Given the description of an element on the screen output the (x, y) to click on. 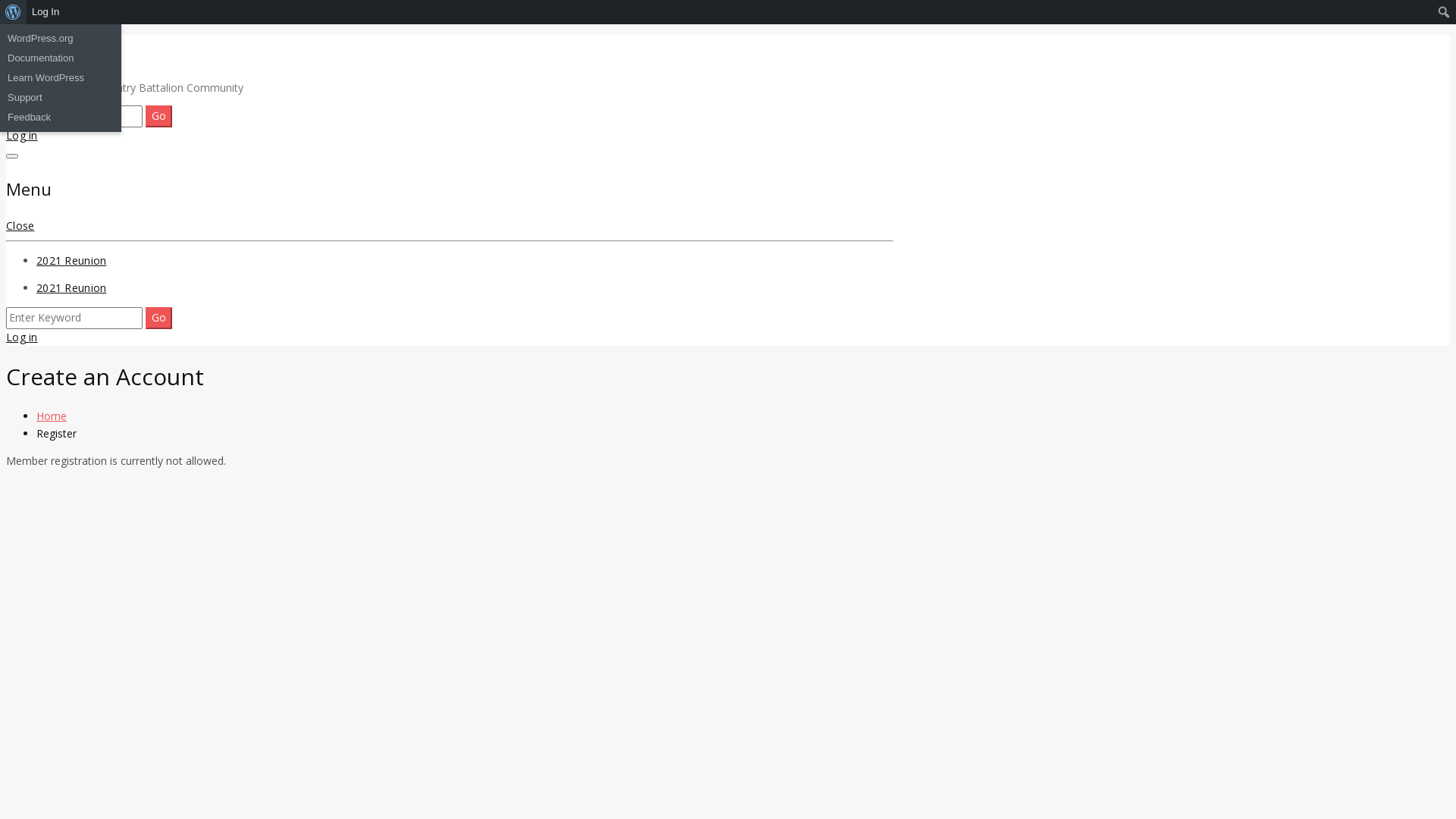
Go Element type: text (158, 115)
Search Element type: text (17, 13)
Go Element type: text (158, 317)
WordPress.org Element type: text (60, 38)
Log In Element type: text (45, 12)
Close Element type: text (20, 225)
Log in Element type: text (21, 135)
2021 Reunion Element type: text (71, 260)
Home Element type: text (51, 415)
Learn WordPress Element type: text (60, 77)
Skip to content Element type: text (5, 34)
2021 Reunion Element type: text (71, 287)
Log in Element type: text (21, 336)
Feedback Element type: text (60, 117)
Support Element type: text (60, 97)
Documentation Element type: text (60, 58)
1st LAI Element type: text (53, 51)
